Given the description of an element on the screen output the (x, y) to click on. 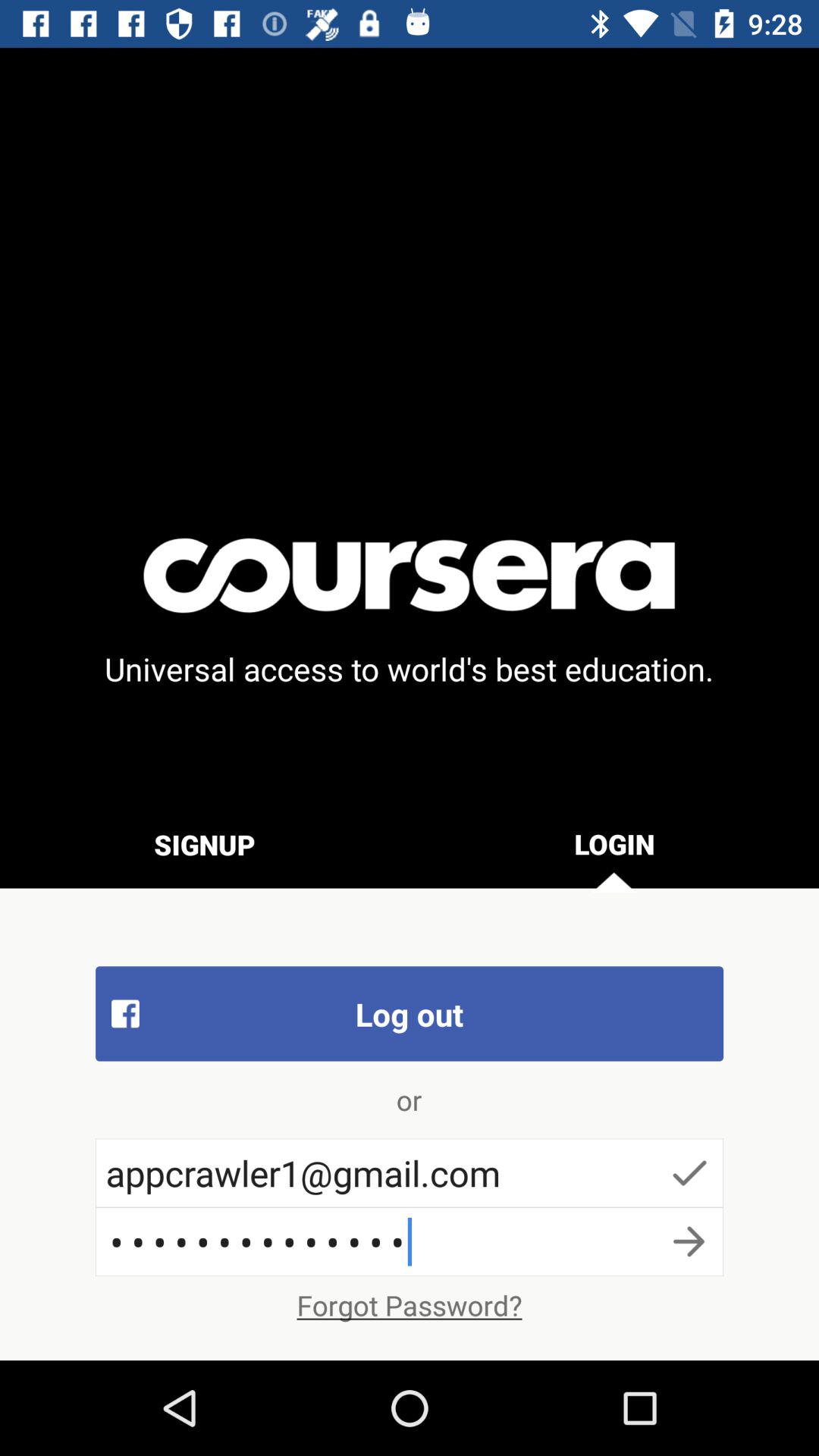
select the icon below or icon (409, 1172)
